Given the description of an element on the screen output the (x, y) to click on. 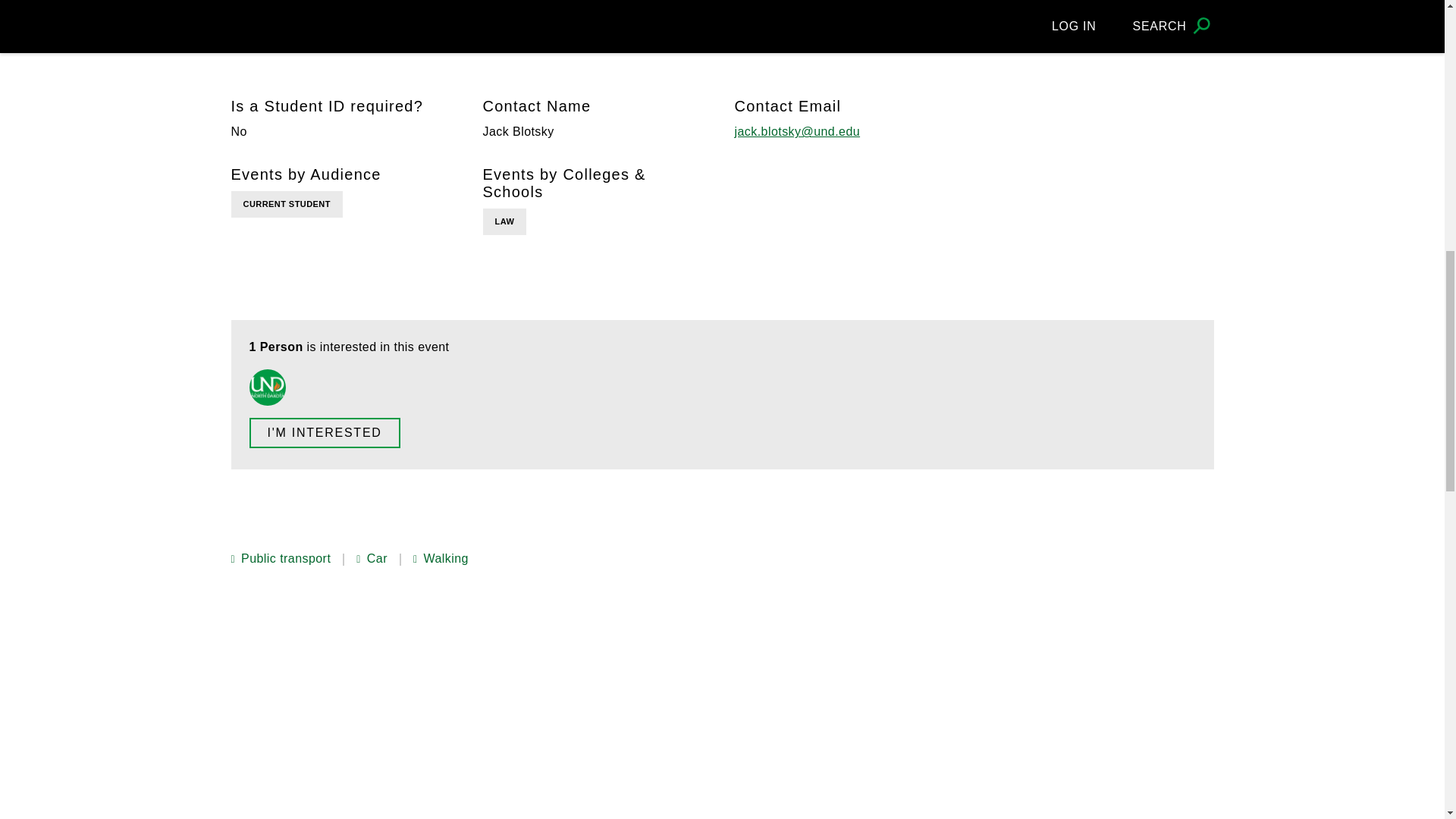
CURRENT STUDENT (286, 203)
LAW (503, 221)
Car (371, 558)
Denitsa Mavrova Heinrich (266, 387)
Public transport (280, 558)
I'M INTERESTED (323, 432)
Walking (440, 558)
